Given the description of an element on the screen output the (x, y) to click on. 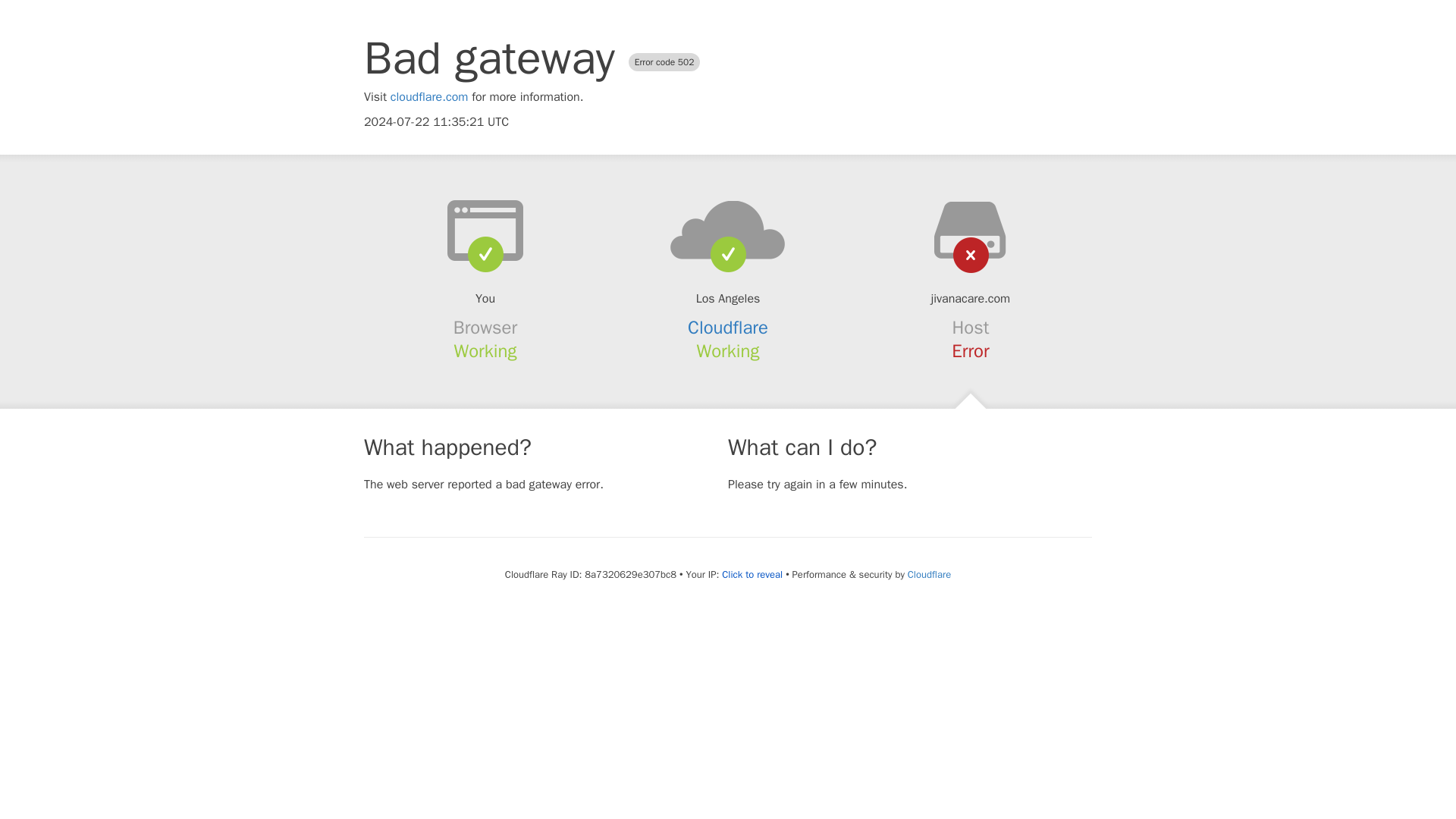
cloudflare.com (429, 96)
Cloudflare (727, 327)
Cloudflare (928, 574)
Click to reveal (752, 574)
